Given the description of an element on the screen output the (x, y) to click on. 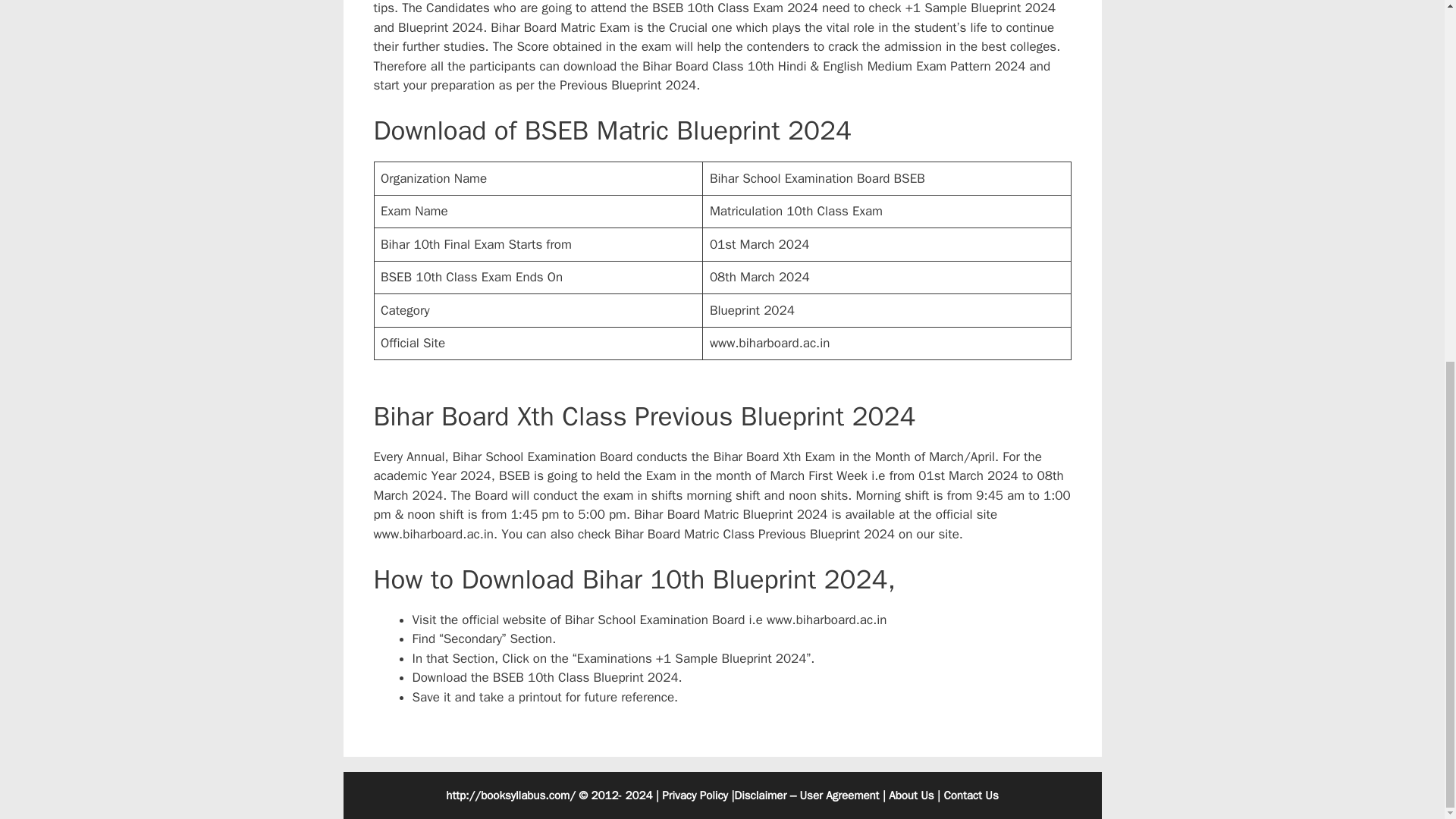
Contact Us (970, 795)
Privacy Policy (695, 795)
About Us (910, 795)
